Given the description of an element on the screen output the (x, y) to click on. 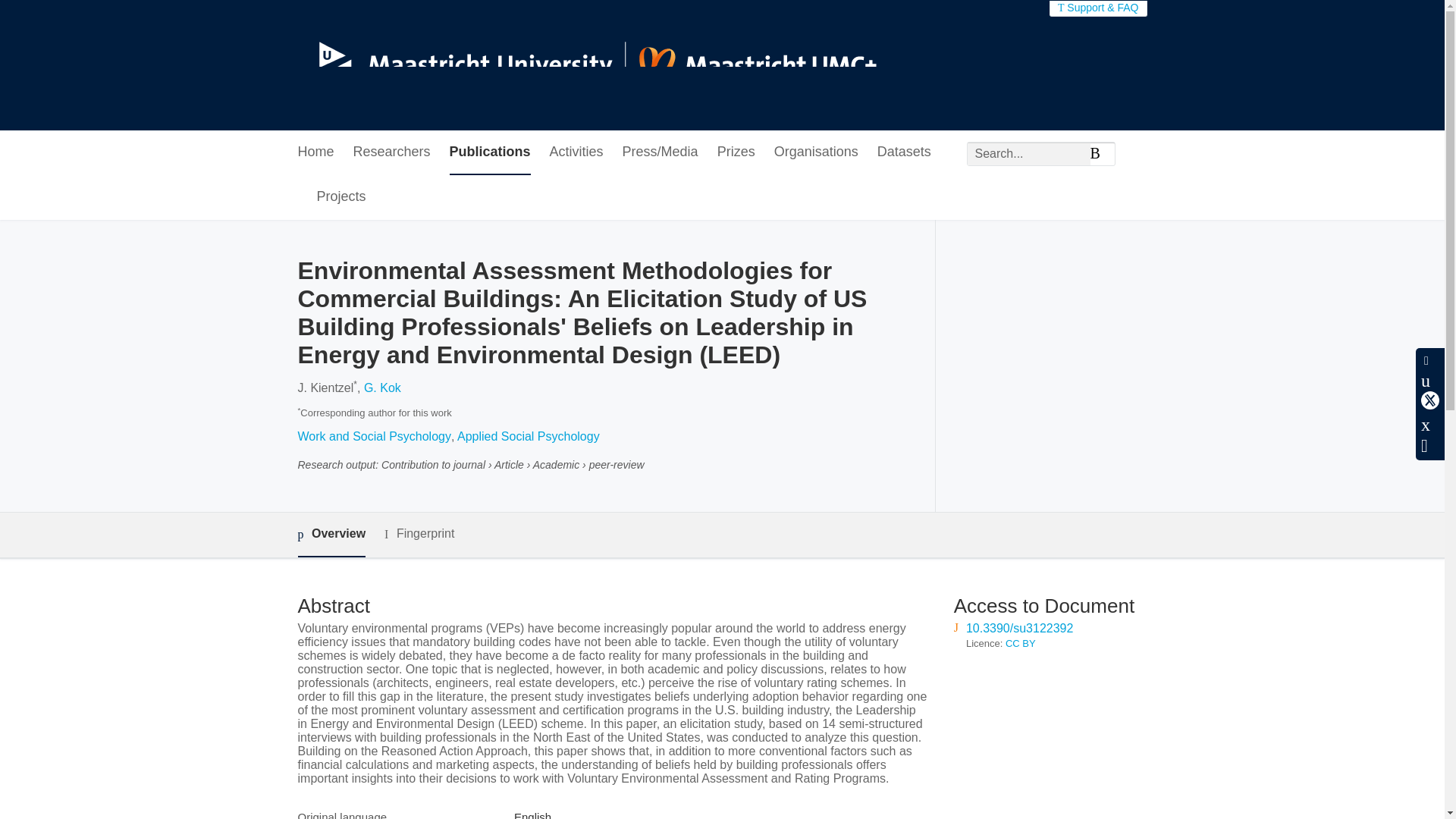
Researchers (391, 152)
Projects (341, 197)
Work and Social Psychology (373, 436)
Datasets (904, 152)
Organisations (816, 152)
CC BY (1020, 643)
Activities (577, 152)
Publications (490, 152)
Applied Social Psychology (528, 436)
